Given the description of an element on the screen output the (x, y) to click on. 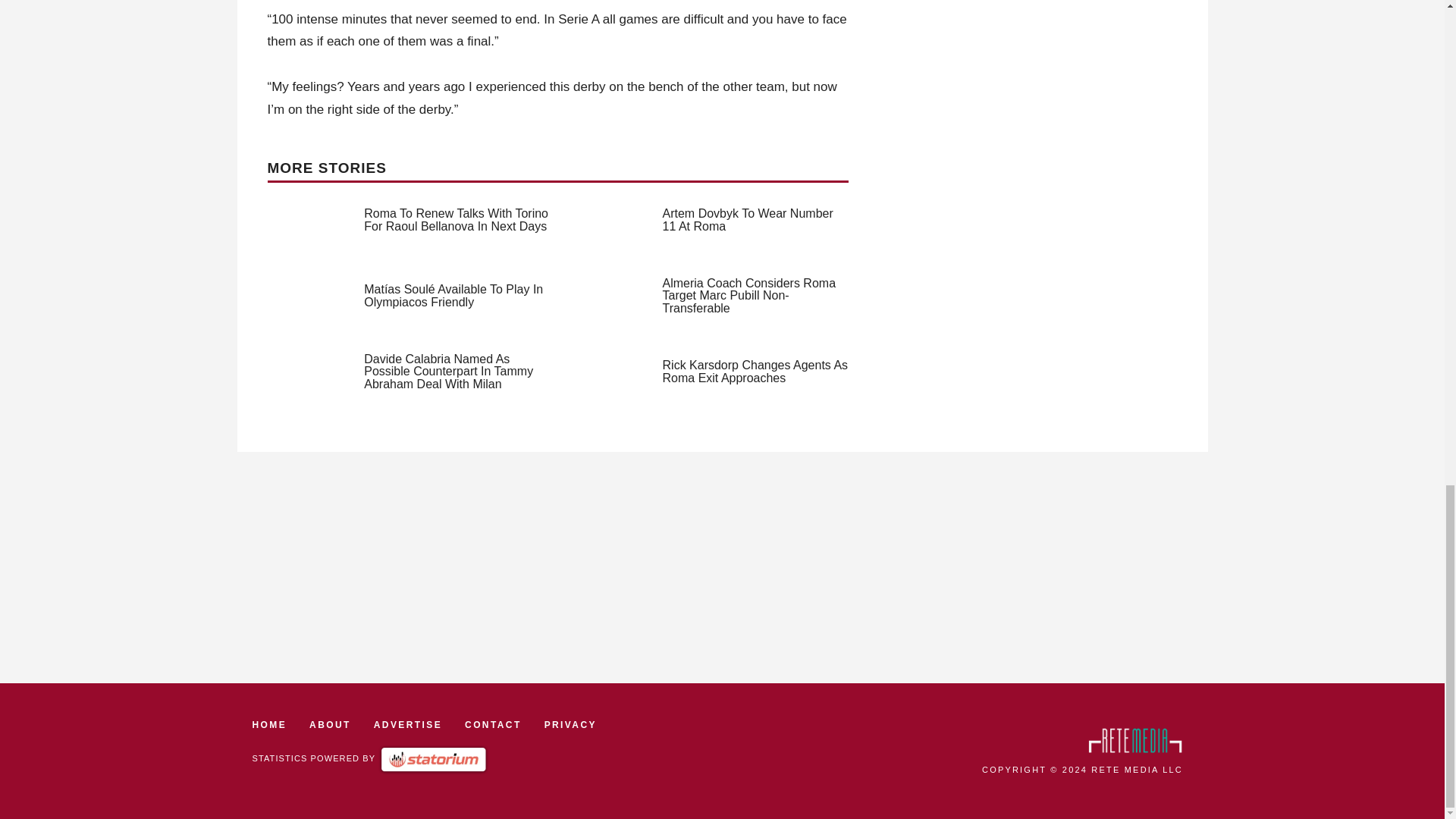
PRIVACY (570, 725)
HOME (268, 725)
CONTACT (492, 725)
Artem Dovbyk To Wear Number 11 At Roma (747, 219)
ABOUT (329, 725)
X (1434, 440)
ADVERTISE (408, 725)
